Given the description of an element on the screen output the (x, y) to click on. 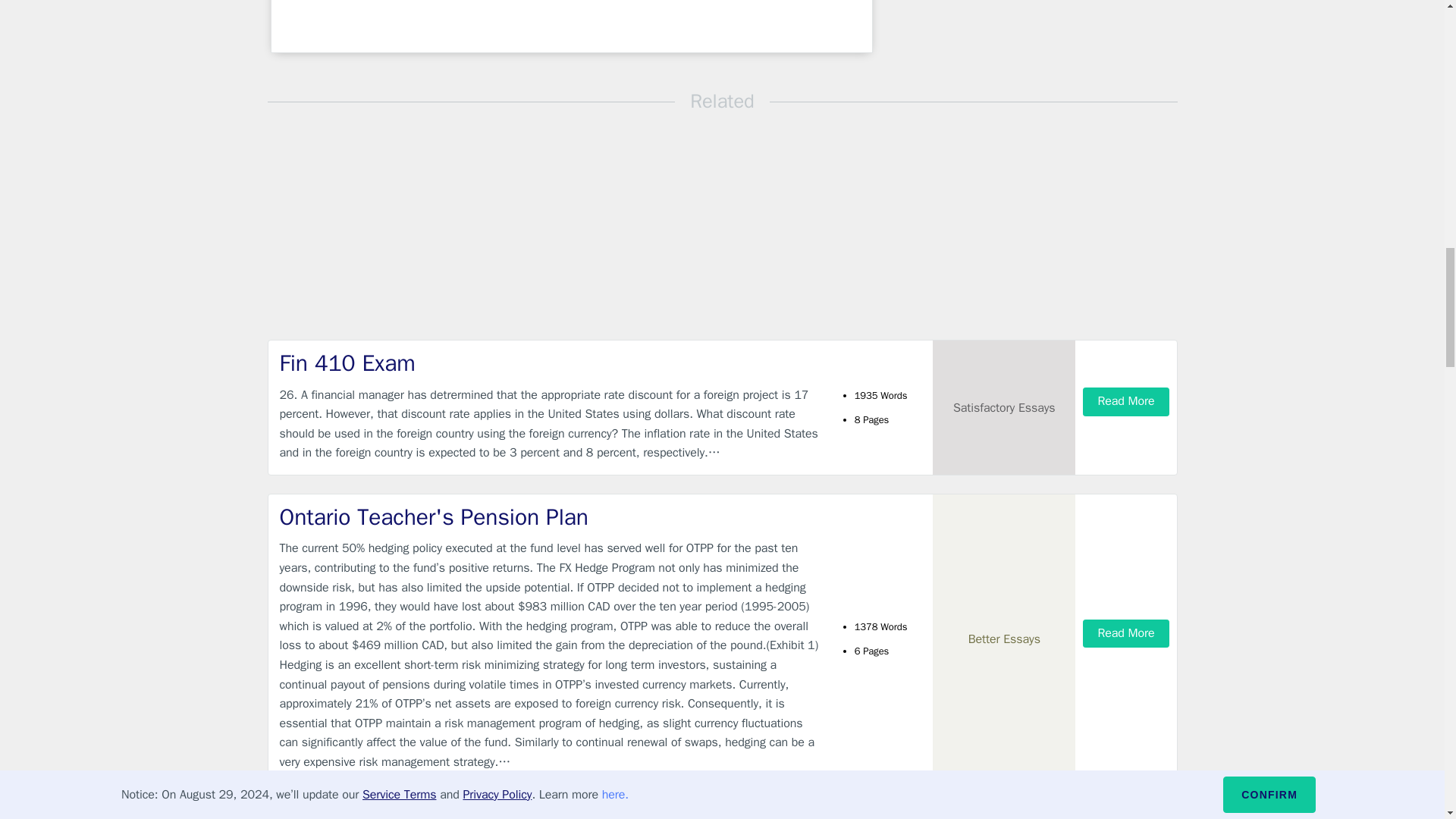
Read More (1126, 633)
Fins1612 Notes (548, 814)
Fin 410 Exam (548, 363)
Read More (1126, 401)
Ontario Teacher's Pension Plan (548, 517)
